Given the description of an element on the screen output the (x, y) to click on. 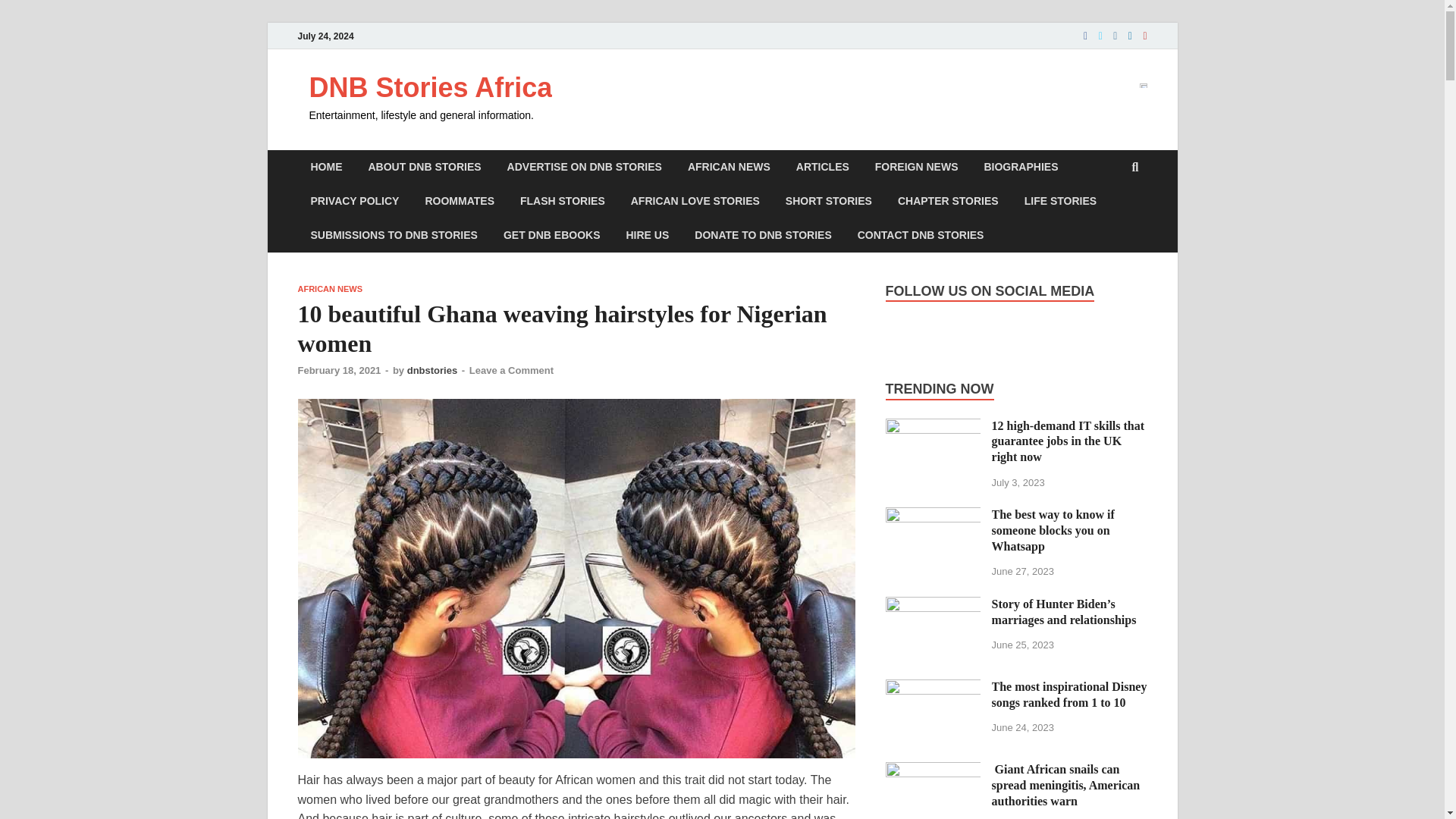
ARTICLES (822, 166)
BIOGRAPHIES (1020, 166)
LIFE STORIES (1060, 201)
AFRICAN LOVE STORIES (695, 201)
HIRE US (646, 235)
HOME (326, 166)
February 18, 2021 (338, 369)
dnbstories (432, 369)
PRIVACY POLICY (354, 201)
SHORT STORIES (829, 201)
ADVERTISE ON DNB STORIES (585, 166)
FOREIGN NEWS (916, 166)
Leave a Comment (510, 369)
CONTACT DNB STORIES (920, 235)
CHAPTER STORIES (948, 201)
